Given the description of an element on the screen output the (x, y) to click on. 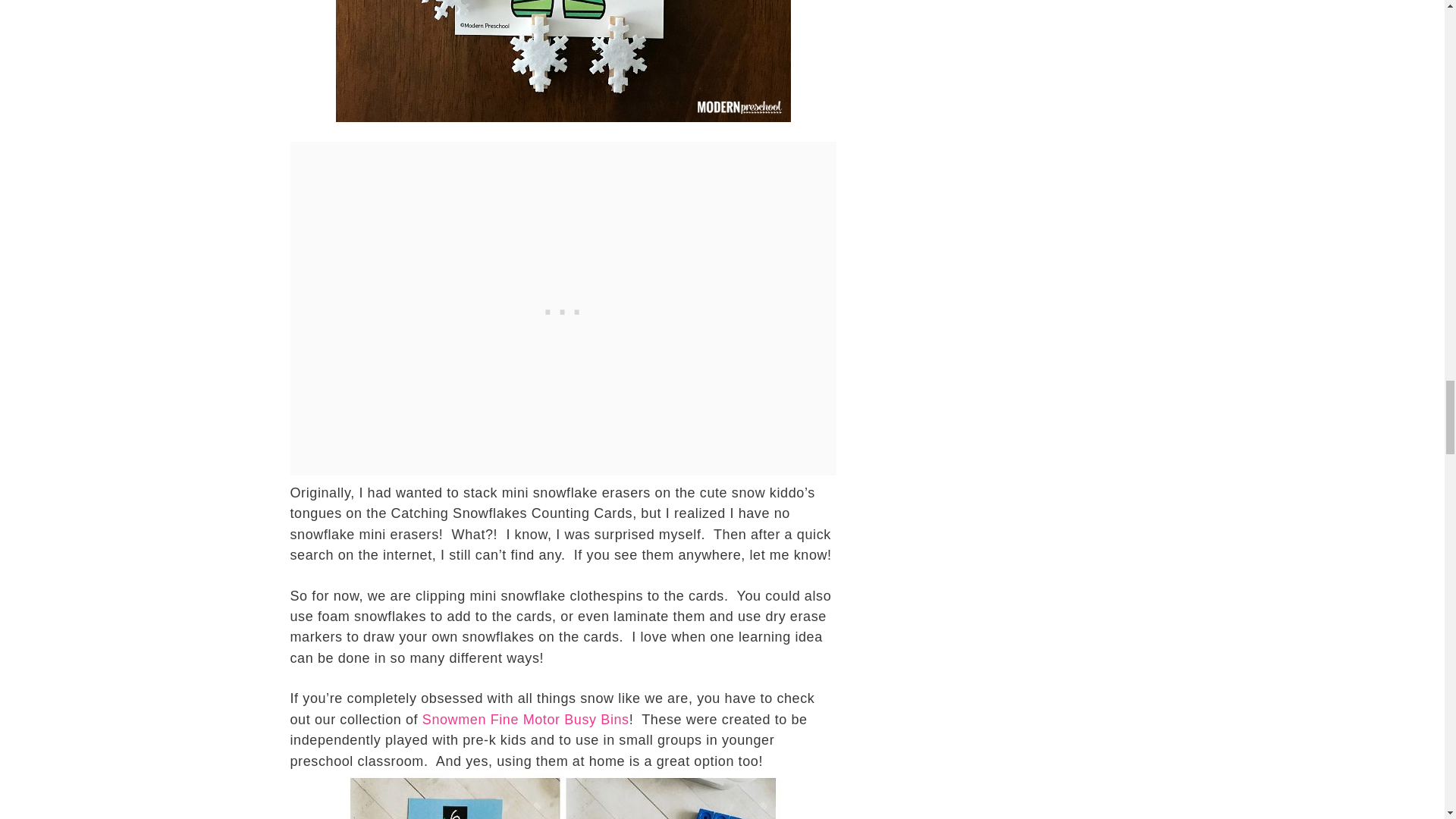
Snowmen Fine Motor Busy Bins (525, 719)
